Given the description of an element on the screen output the (x, y) to click on. 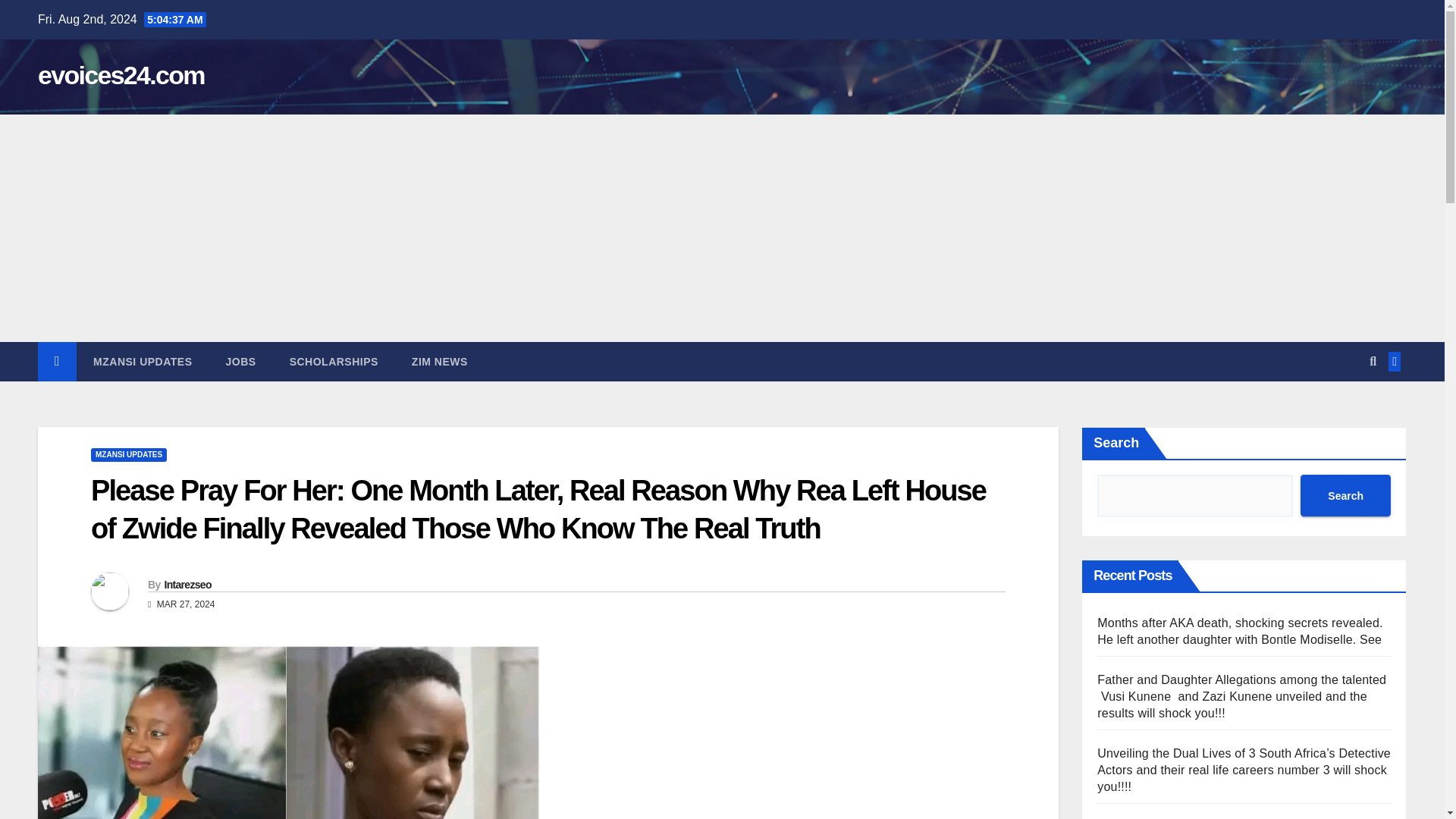
SCHOLARSHIPS (333, 361)
evoices24.com (121, 74)
Intarezseo (187, 584)
Scholarships (333, 361)
Zim News (439, 361)
ZIM NEWS (439, 361)
Jobs (241, 361)
Mzansi Updates (142, 361)
MZANSI UPDATES (142, 361)
JOBS (241, 361)
MZANSI UPDATES (128, 454)
